Given the description of an element on the screen output the (x, y) to click on. 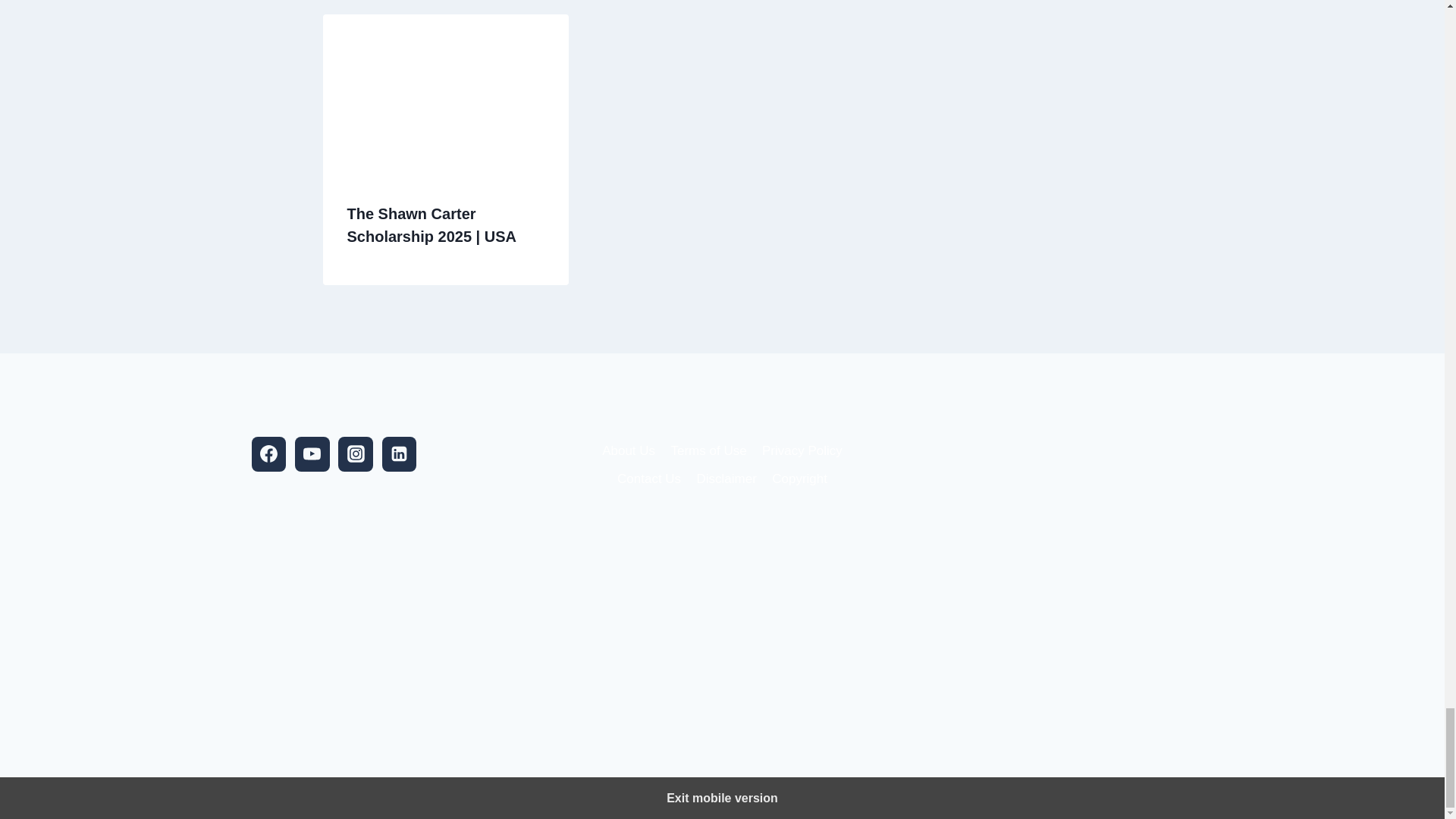
About Us (628, 450)
Disclaimer (726, 479)
Copyright (799, 479)
Terms of Use (708, 450)
Privacy Policy (802, 450)
Contact Us (649, 479)
